Given the description of an element on the screen output the (x, y) to click on. 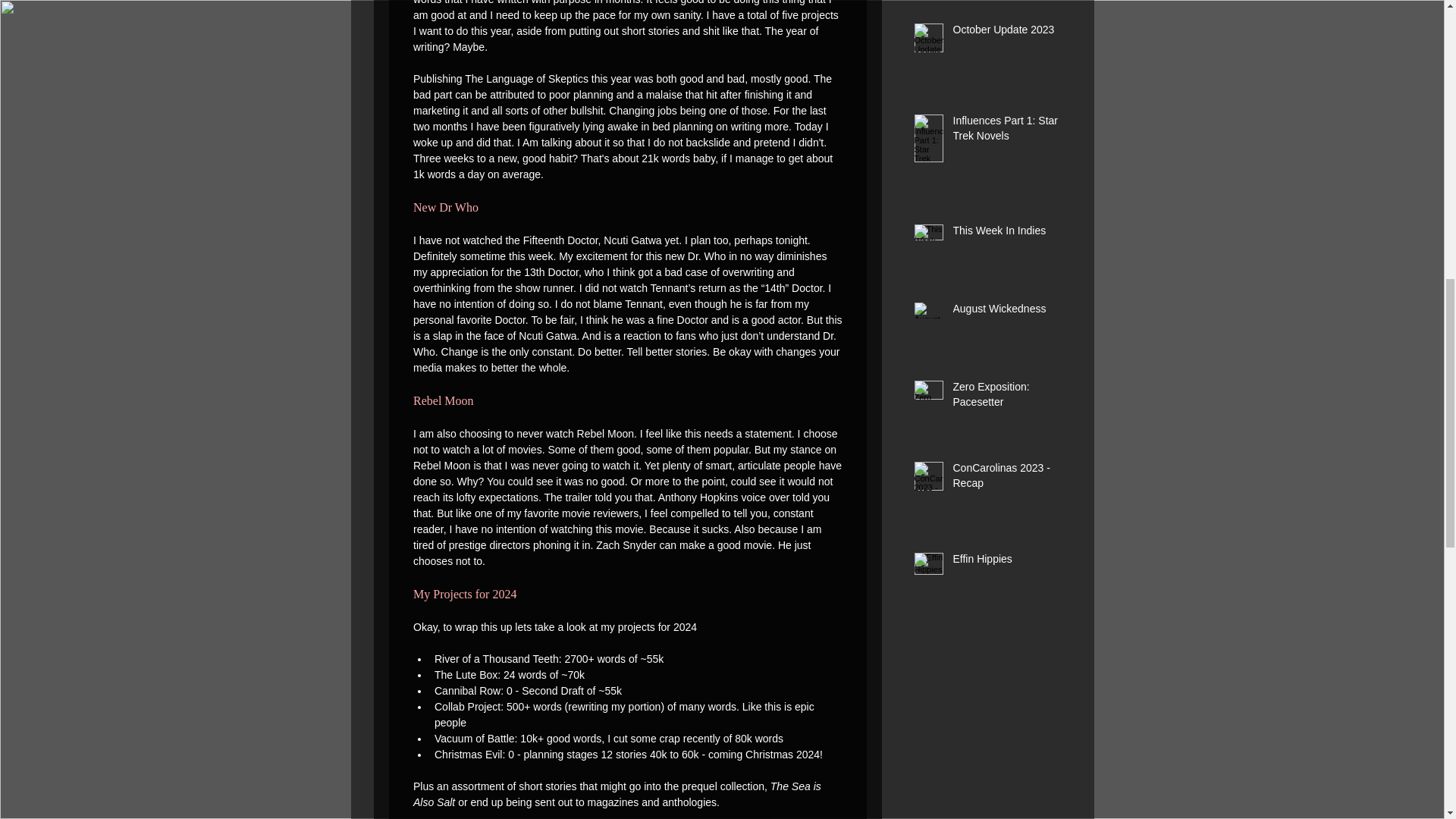
August Wickedness (1006, 312)
Influences Part 1: Star Trek Novels (1006, 131)
ConCarolinas 2023 - Recap (1006, 478)
Zero Exposition: Pacesetter (1006, 397)
Effin Hippies (1006, 562)
This Week In Indies (1006, 233)
October Update 2023 (1006, 33)
